Given the description of an element on the screen output the (x, y) to click on. 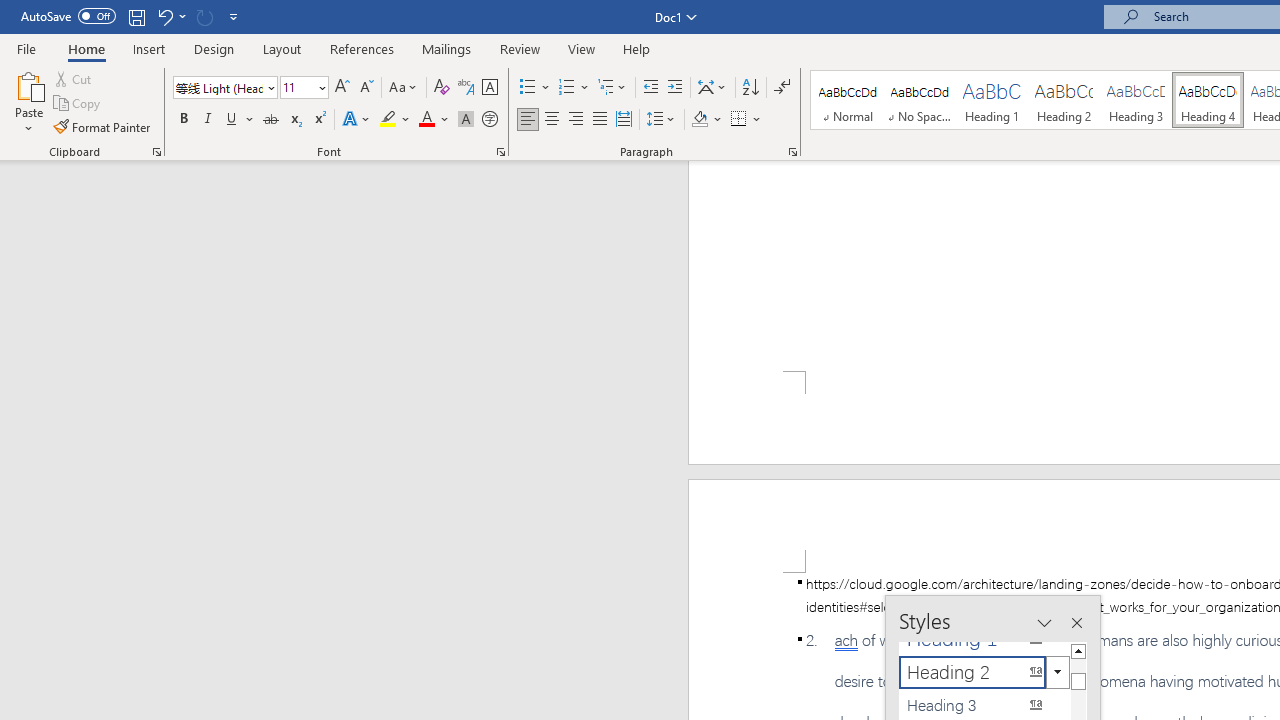
Undo Style (170, 15)
